Given the description of an element on the screen output the (x, y) to click on. 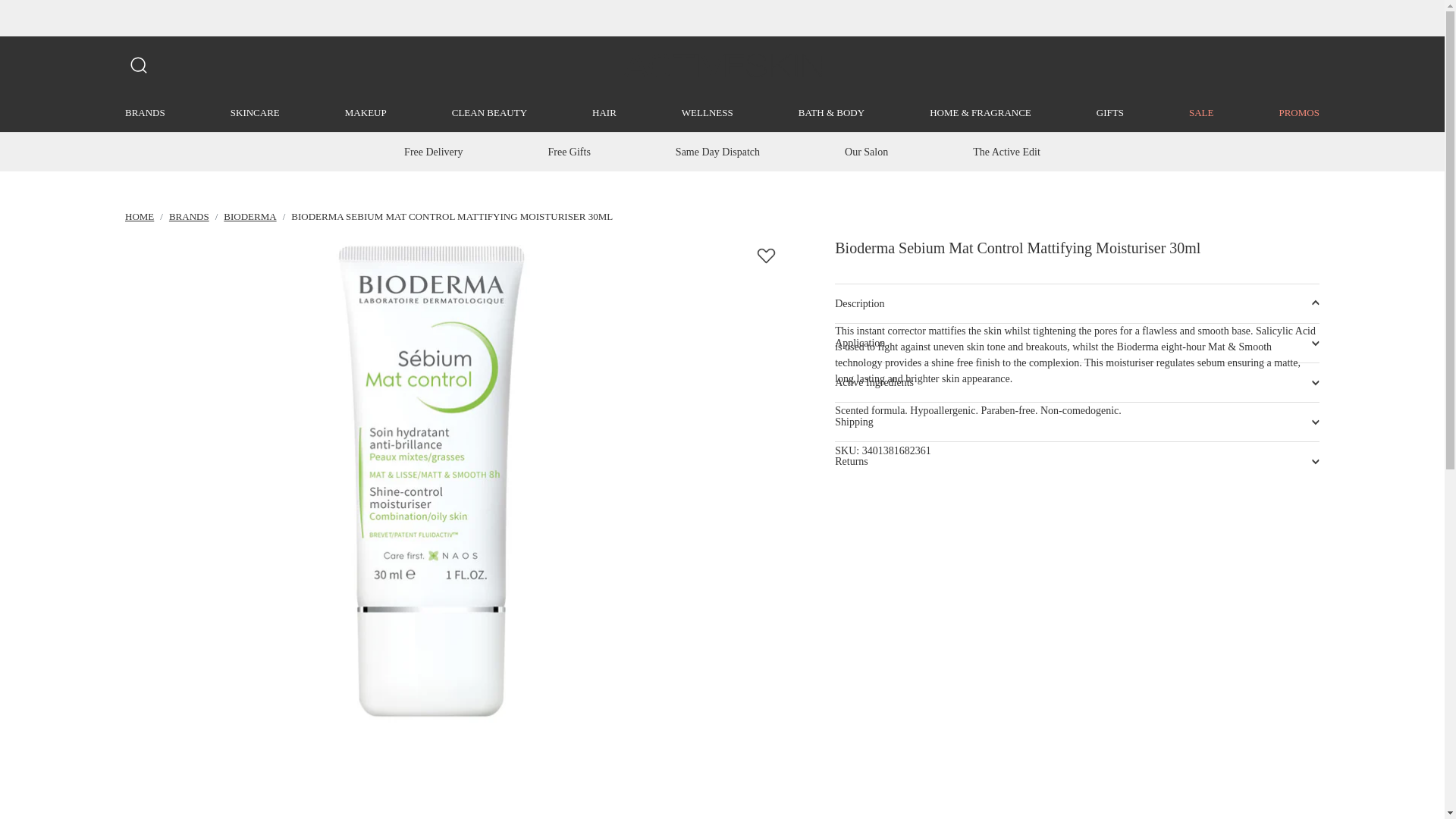
NEW! Dermalogica Biolumin-C Serum (721, 18)
Activeskin (722, 63)
BRANDS (145, 112)
